Given the description of an element on the screen output the (x, y) to click on. 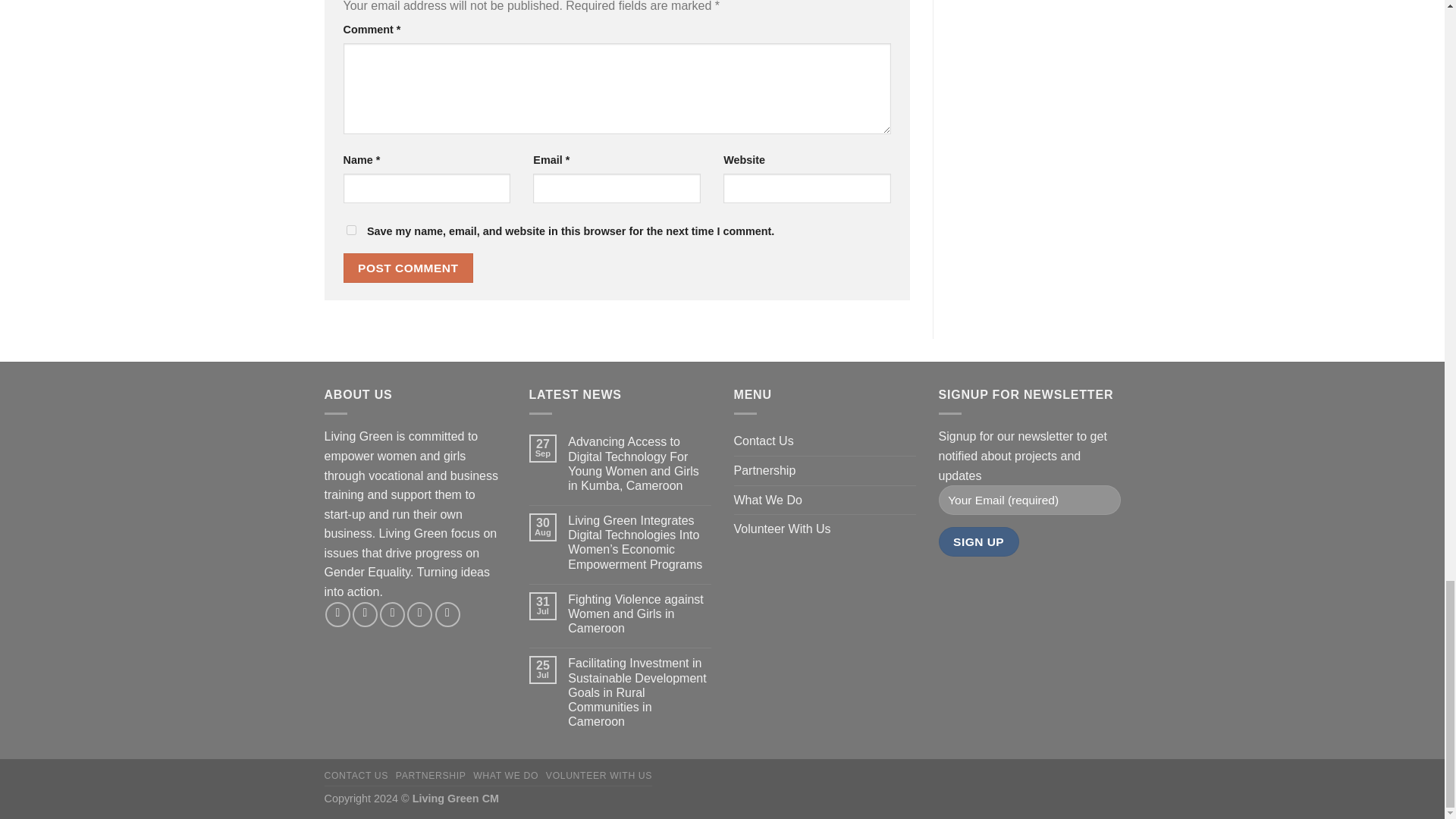
yes (350, 230)
Sign Up (979, 541)
Post Comment (407, 267)
